Given the description of an element on the screen output the (x, y) to click on. 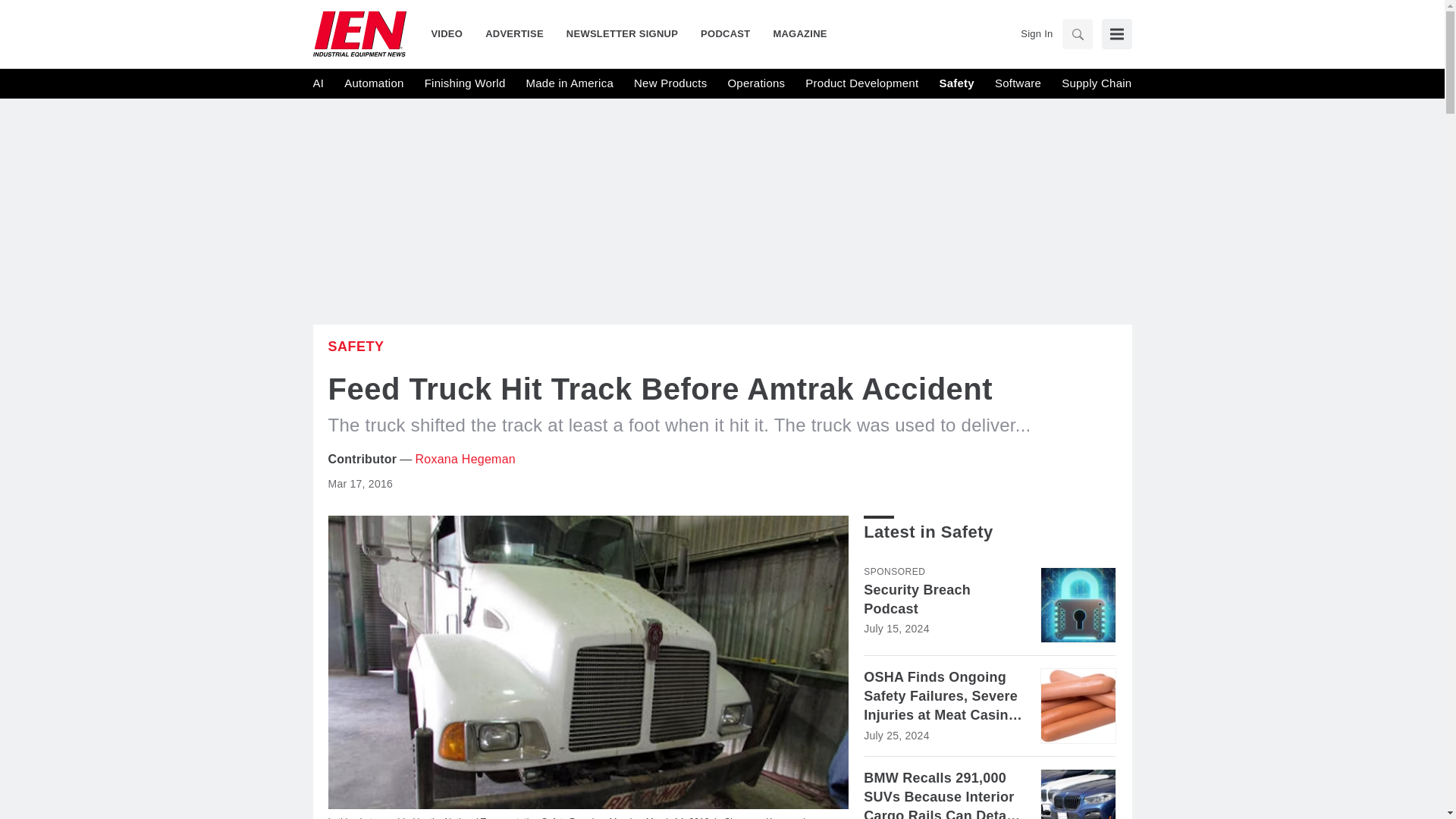
New Products (669, 83)
Operations (755, 83)
Sponsored (893, 571)
ADVERTISE (514, 33)
MAGAZINE (794, 33)
NEWSLETTER SIGNUP (621, 33)
Safety (956, 83)
Made in America (568, 83)
Product Development (861, 83)
Sign In (1036, 33)
PODCAST (724, 33)
Finishing World (465, 83)
Automation (373, 83)
Safety (355, 346)
VIDEO (452, 33)
